Given the description of an element on the screen output the (x, y) to click on. 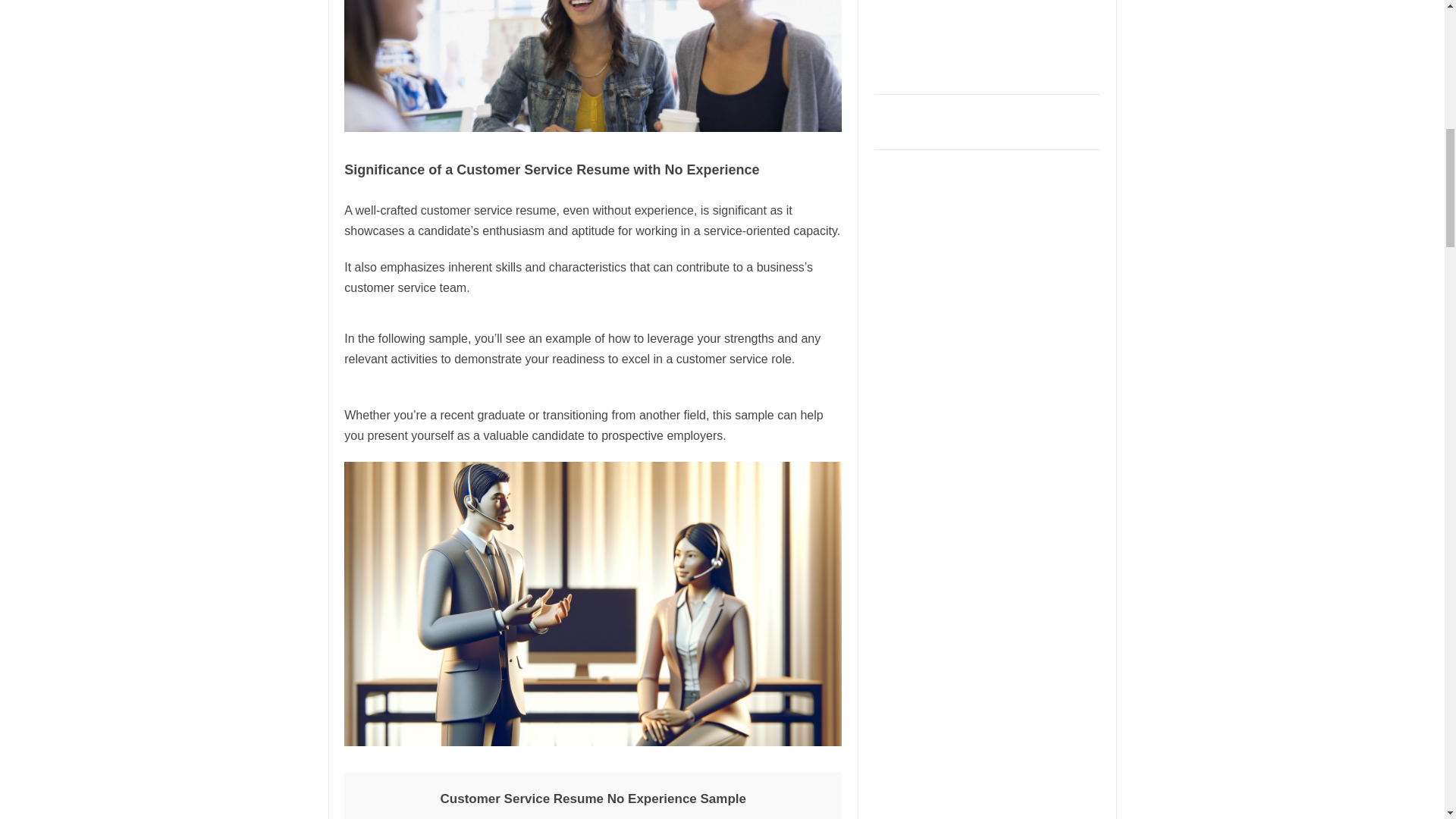
Advertisement (988, 42)
